Given the description of an element on the screen output the (x, y) to click on. 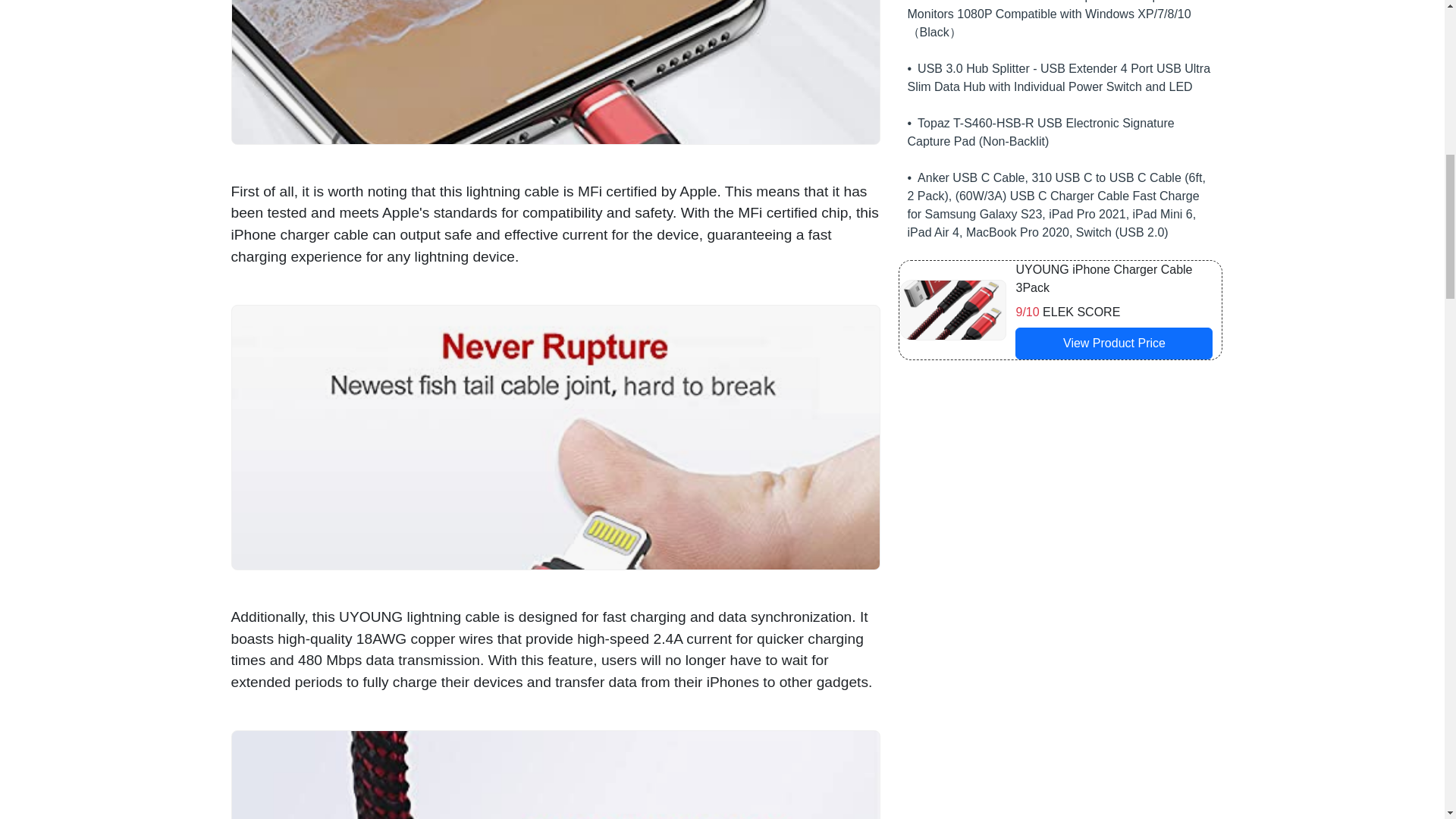
View Product Price (1113, 343)
